Given the description of an element on the screen output the (x, y) to click on. 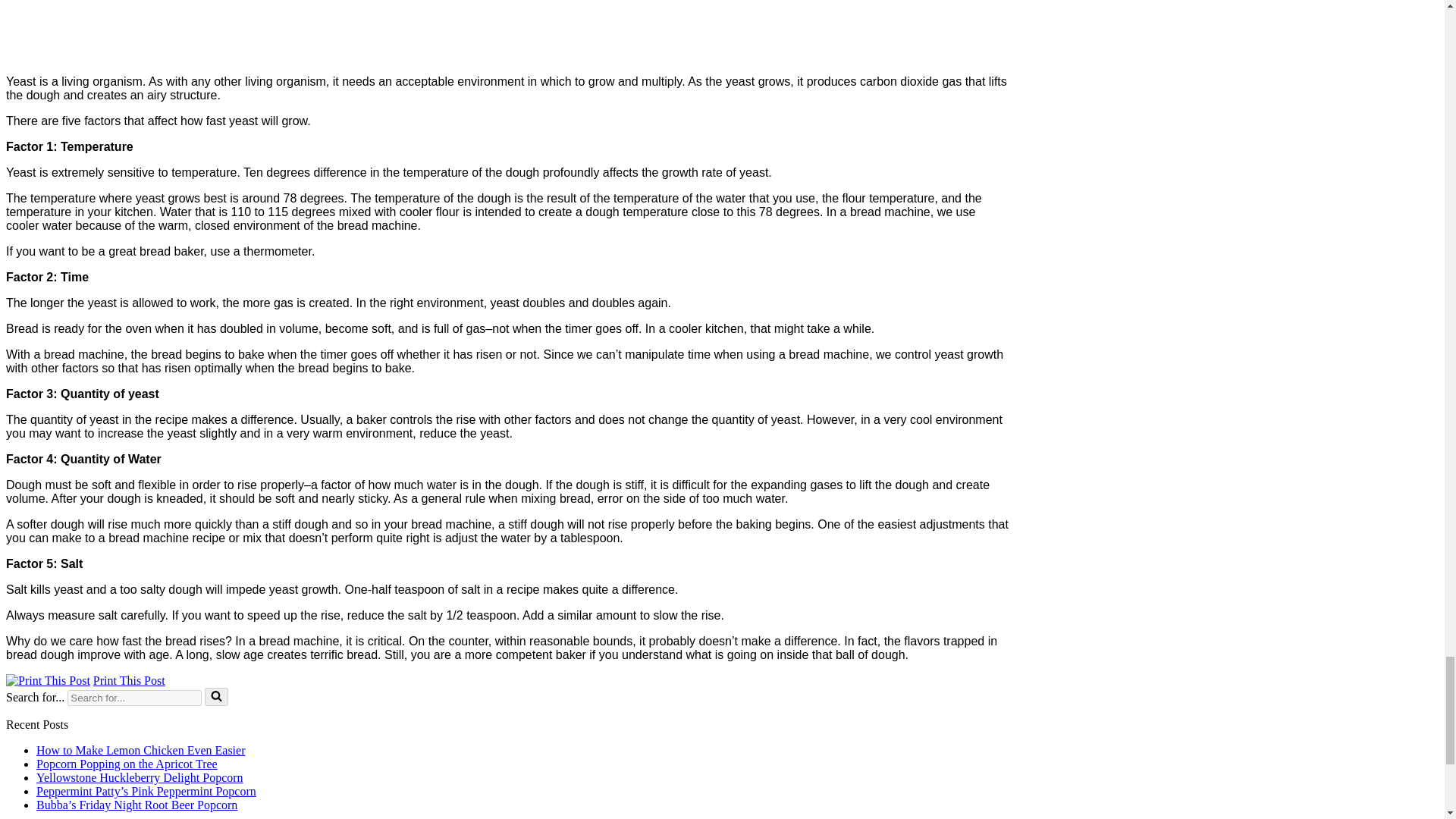
Print This Post (129, 680)
Print This Post (129, 680)
Popcorn Popping on the Apricot Tree (126, 763)
Yellowstone Huckleberry Delight Popcorn (139, 777)
Print This Post (47, 680)
How to Make Lemon Chicken Even Easier (140, 749)
Print This Post (47, 680)
